Given the description of an element on the screen output the (x, y) to click on. 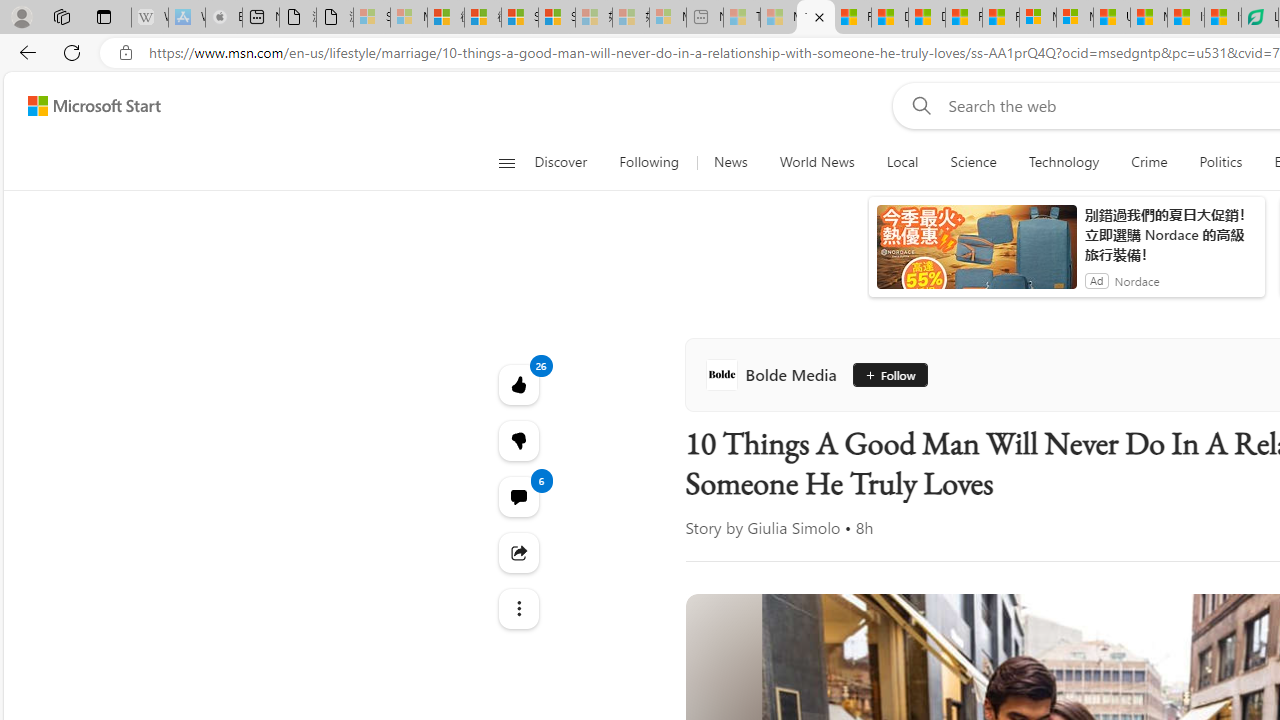
Drinking tea every day is proven to delay biological aging (926, 17)
Foo BAR | Trusted Community Engagement and Contributions (1000, 17)
Microsoft account | Account Checkup - Sleeping (668, 17)
26 (517, 440)
26 Like (517, 384)
Technology (1064, 162)
Dislike (517, 440)
Class: button-glyph (505, 162)
Skip to footer (82, 105)
Nordace (1136, 280)
